Given the description of an element on the screen output the (x, y) to click on. 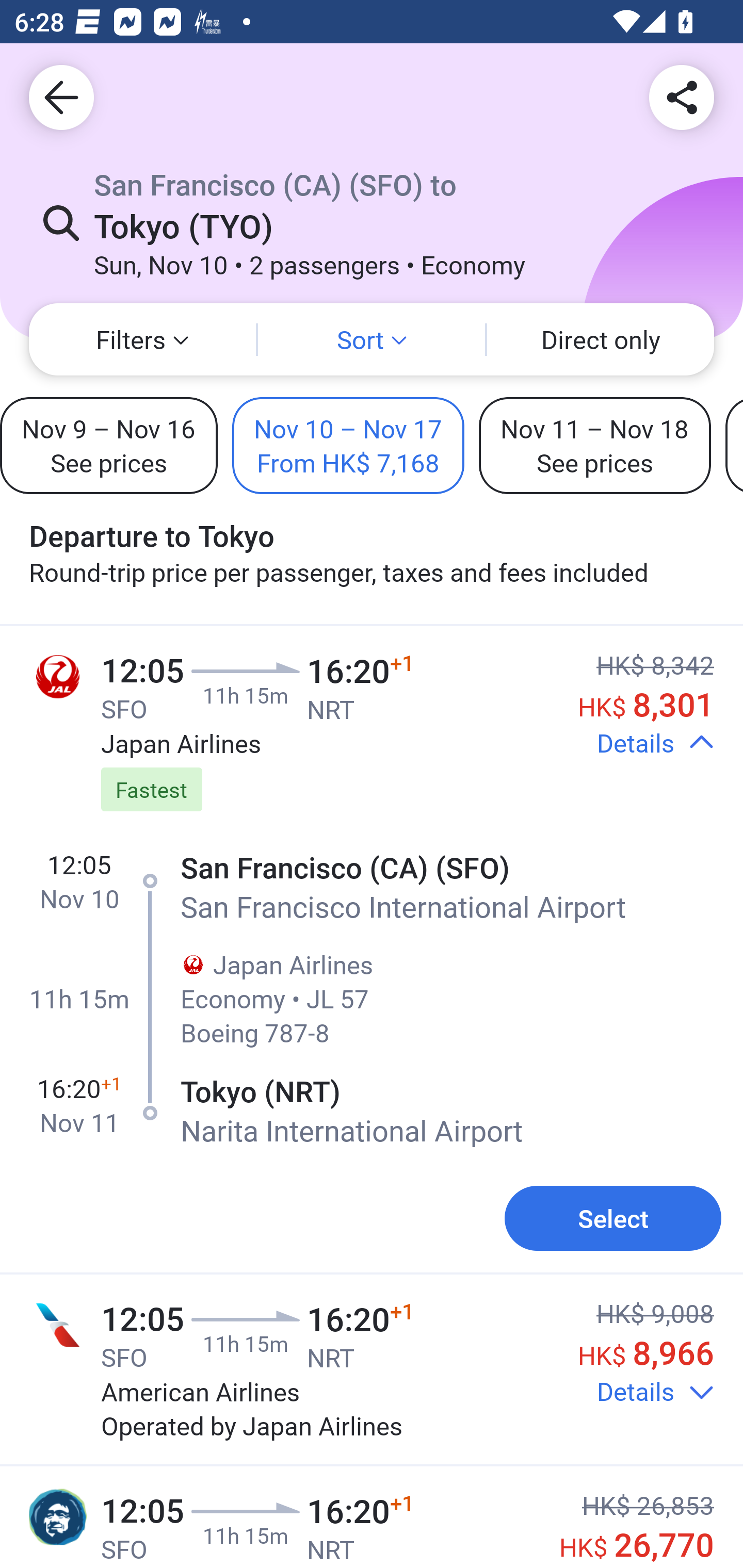
Filters (141, 339)
Sort (371, 339)
Direct only (600, 339)
Nov 9 – Nov 16 See prices (108, 444)
Nov 10 – Nov 17 From HK$ 7,168 (347, 444)
Nov 11 – Nov 18 See prices (594, 444)
Select (612, 1218)
